Given the description of an element on the screen output the (x, y) to click on. 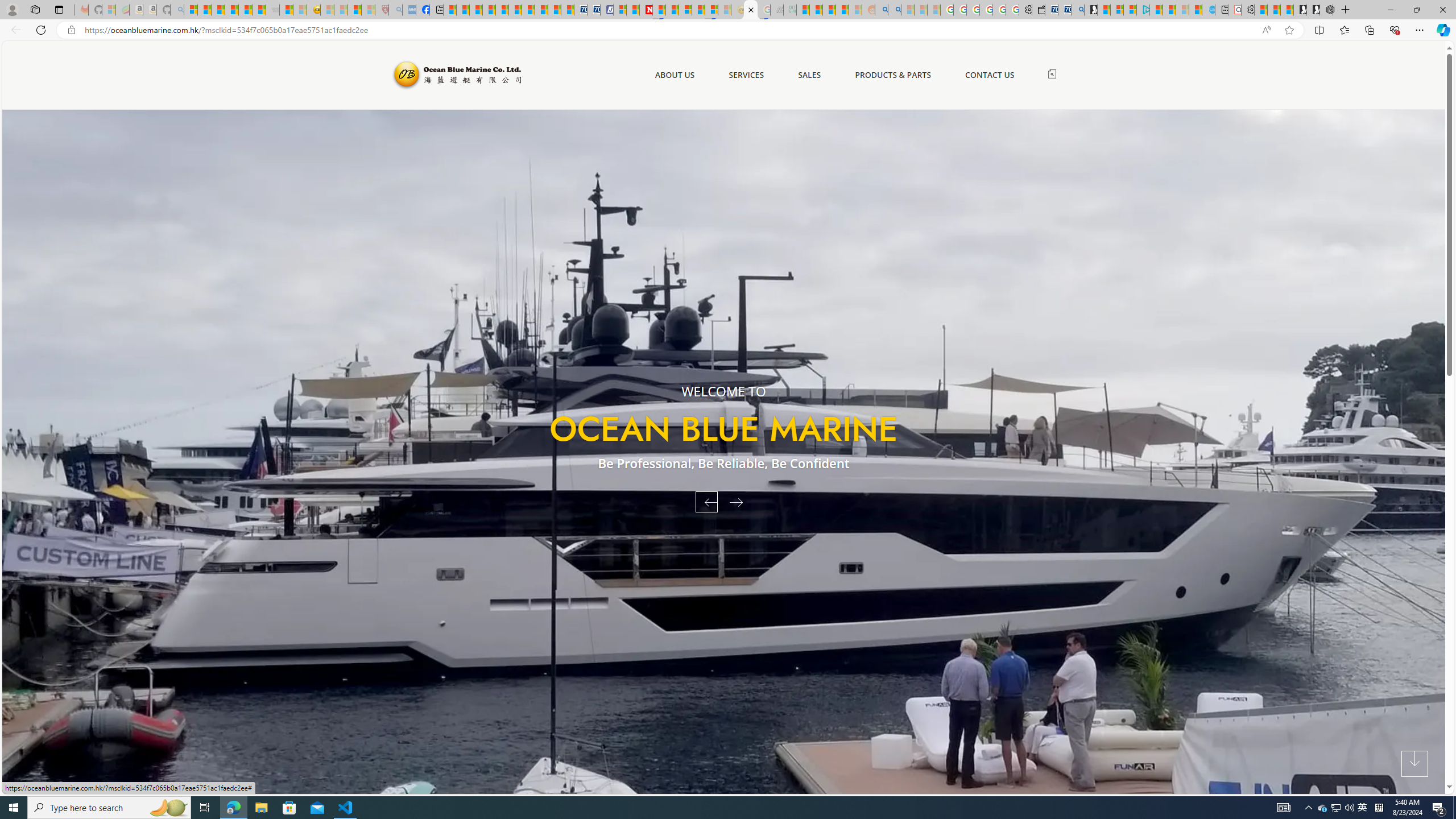
SERVICES (746, 74)
